Given the description of an element on the screen output the (x, y) to click on. 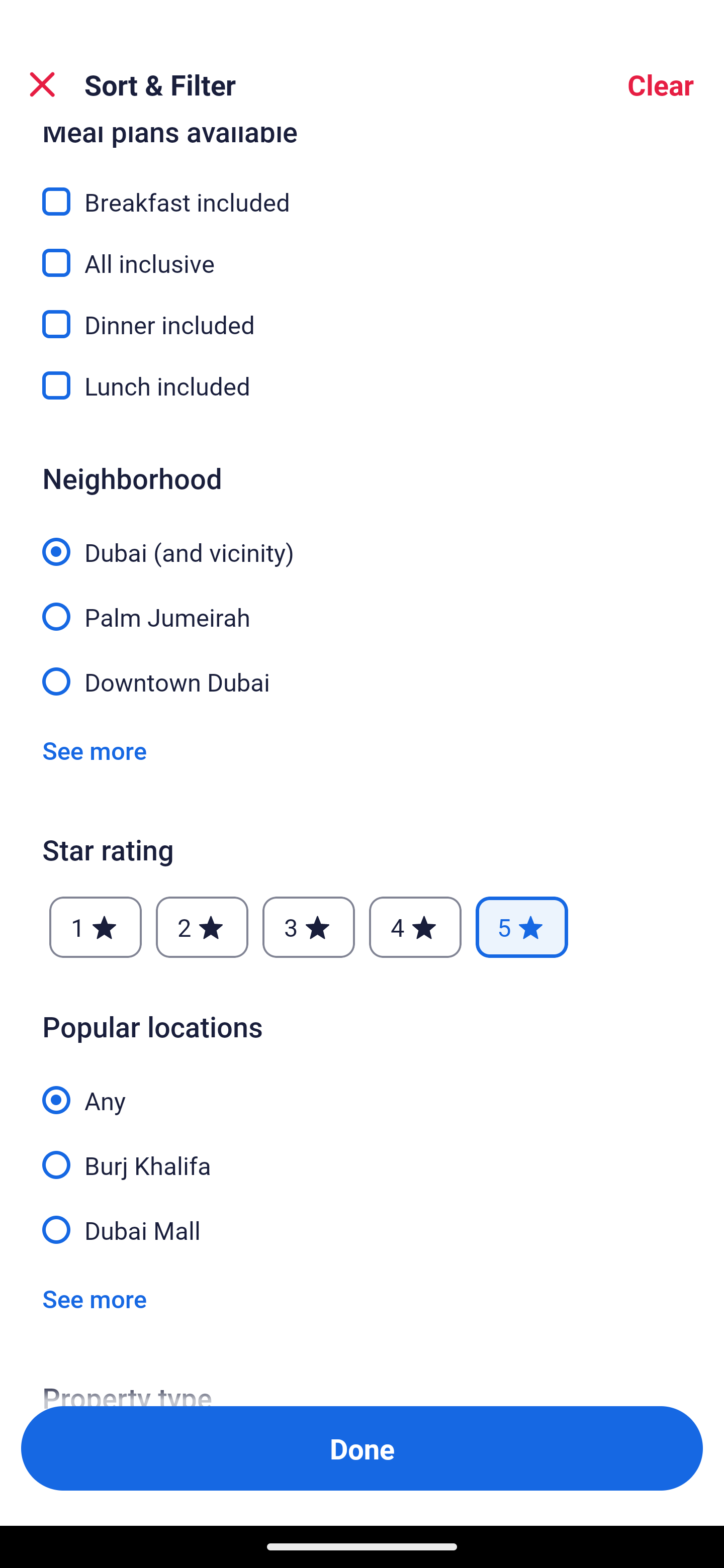
Close Sort and Filter (42, 84)
Clear (660, 84)
Breakfast included, Breakfast included (361, 190)
All inclusive, All inclusive (361, 251)
Dinner included, Dinner included (361, 312)
Lunch included, Lunch included (361, 385)
Palm Jumeirah (361, 605)
Downtown Dubai (361, 680)
See more See more neighborhoods Link (93, 749)
1 (95, 926)
2 (201, 926)
3 (308, 926)
4 (415, 926)
5 (521, 926)
Burj Khalifa (361, 1153)
Dubai Mall (361, 1228)
See more See more popular locations Link (93, 1297)
Apply and close Sort and Filter Done (361, 1448)
